Given the description of an element on the screen output the (x, y) to click on. 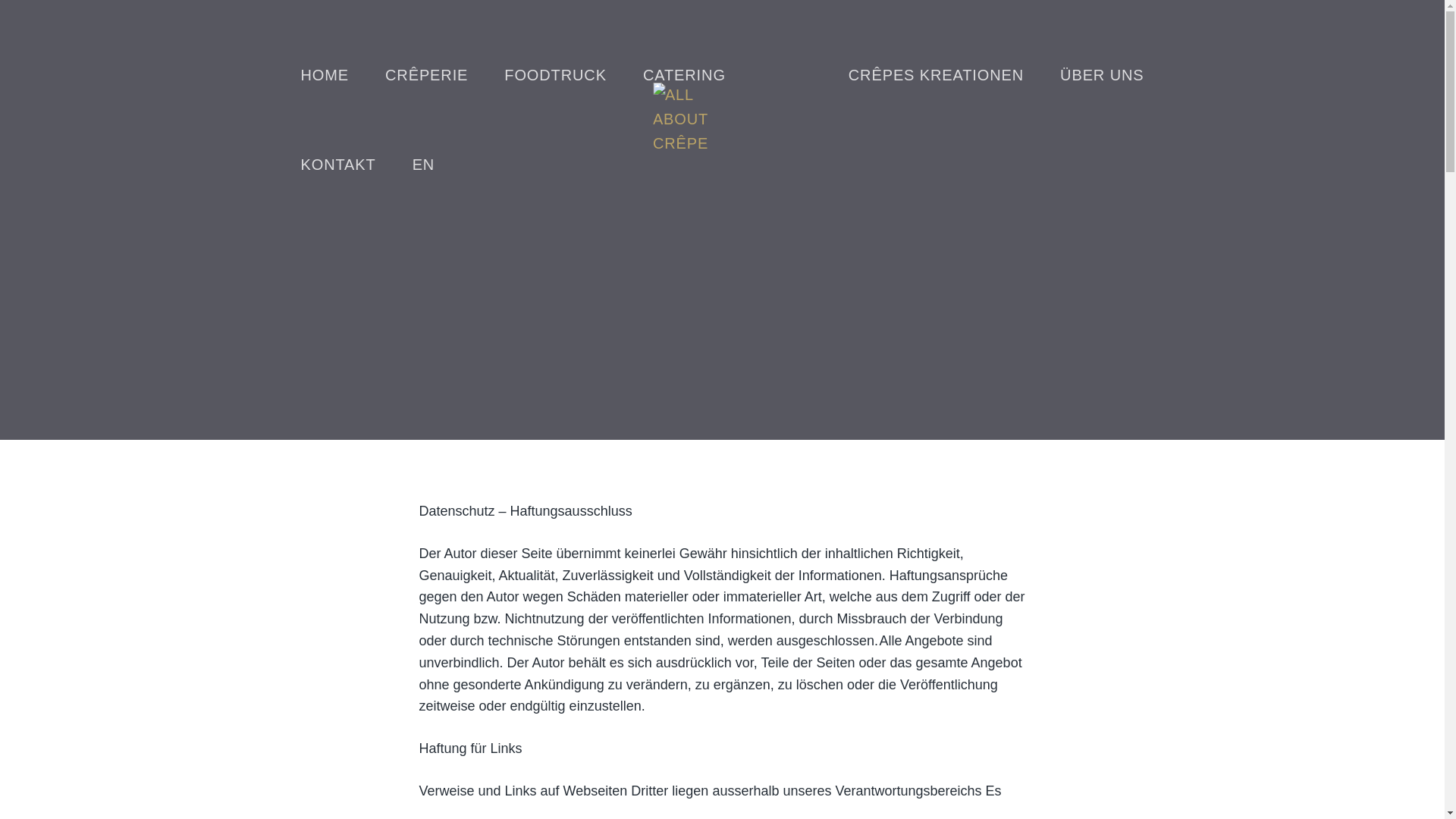
HOME Element type: text (324, 74)
FOODTRUCK Element type: text (555, 74)
CATERING Element type: text (683, 74)
KONTAKT Element type: text (337, 164)
EN Element type: text (423, 164)
